Given the description of an element on the screen output the (x, y) to click on. 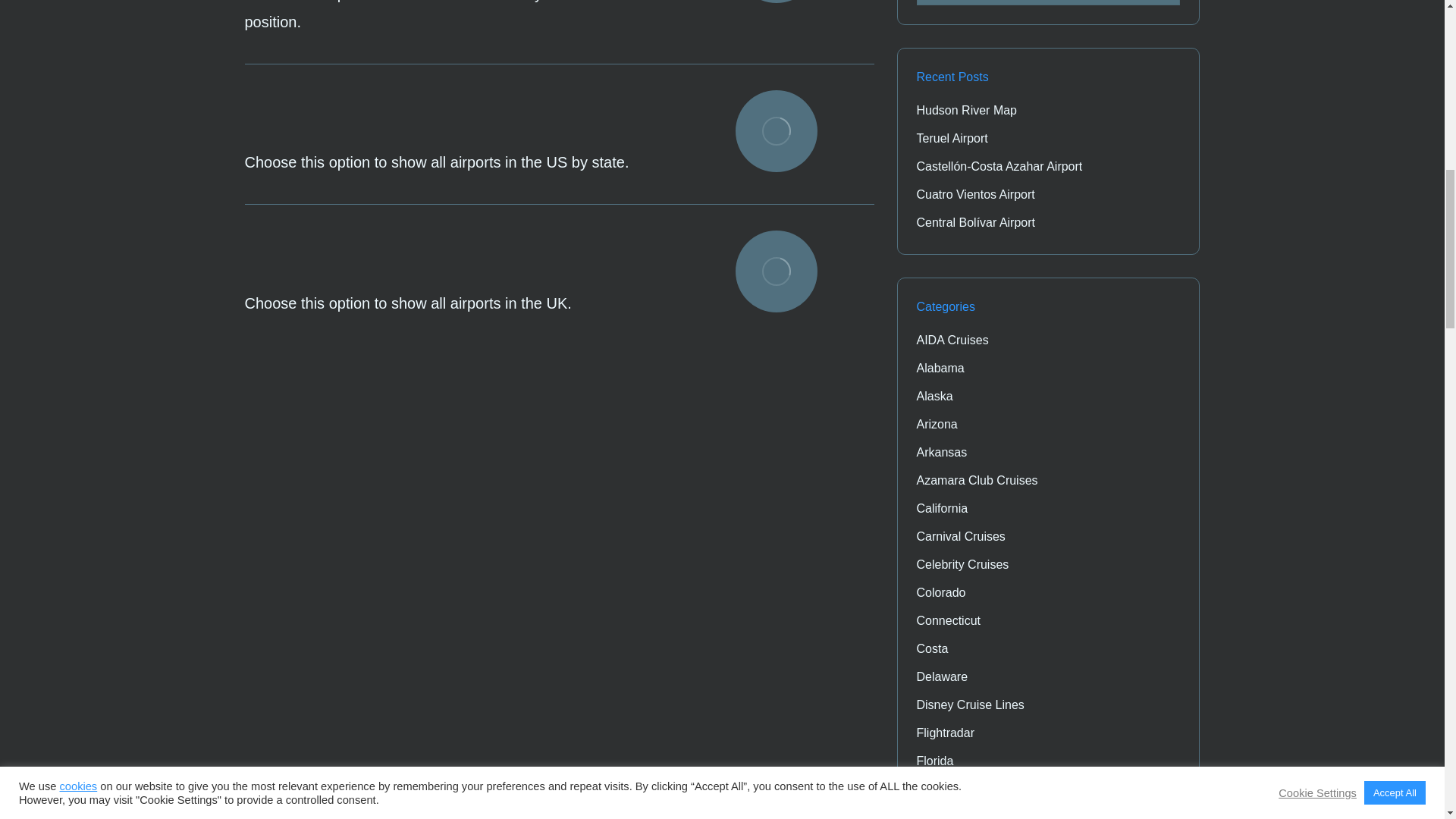
Go! (1158, 2)
Go! (1158, 2)
